Given the description of an element on the screen output the (x, y) to click on. 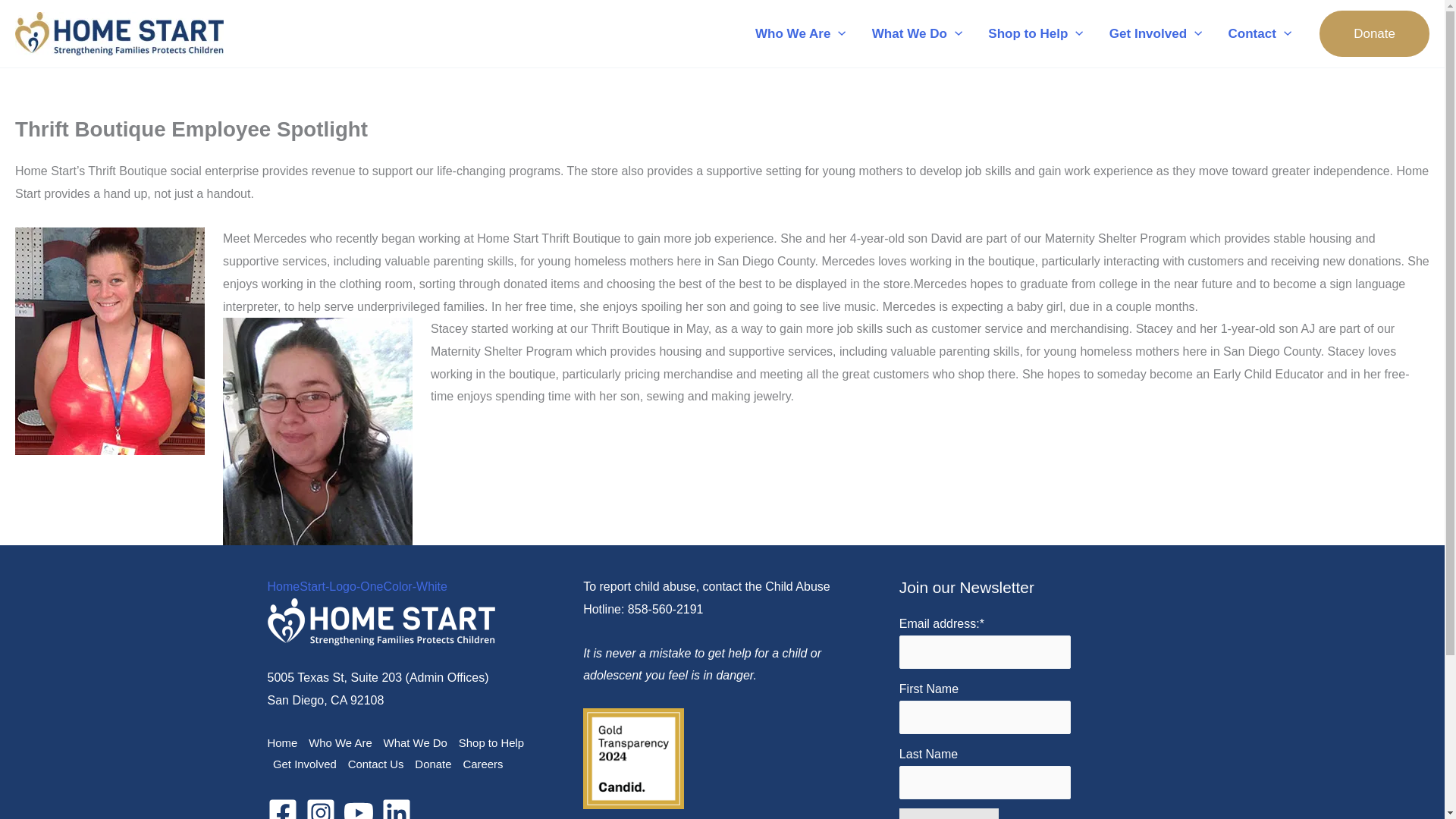
Subscribe (948, 813)
Get Involved (1155, 33)
What We Do (917, 33)
Who We Are (800, 33)
Shop to Help (1035, 33)
Contact (1259, 33)
